Given the description of an element on the screen output the (x, y) to click on. 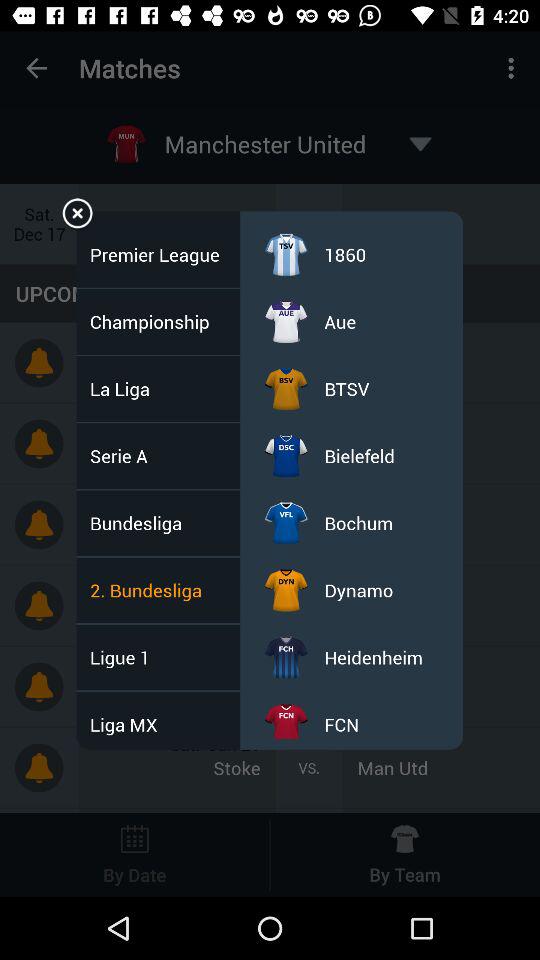
scroll until the fcn (341, 724)
